Given the description of an element on the screen output the (x, y) to click on. 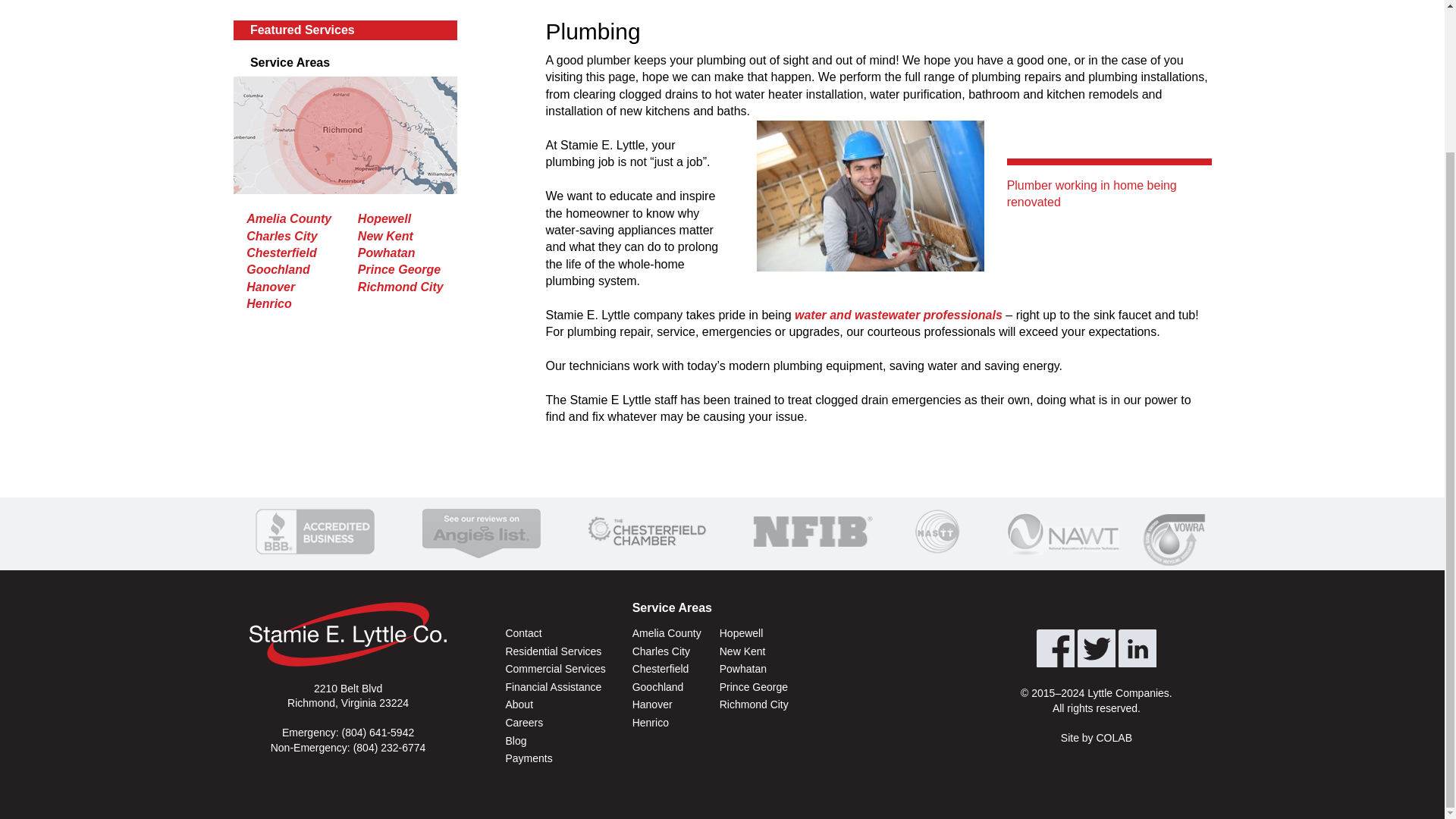
Commercial Services (554, 669)
Connect with us on LinkedIn (1137, 648)
Contact (554, 633)
Angie's List (480, 531)
Henrico (269, 303)
water and wastewater professionals (898, 314)
Powhatan (386, 252)
Goochland (278, 269)
Like us on Facebook (1055, 648)
Hanover (270, 286)
